Given the description of an element on the screen output the (x, y) to click on. 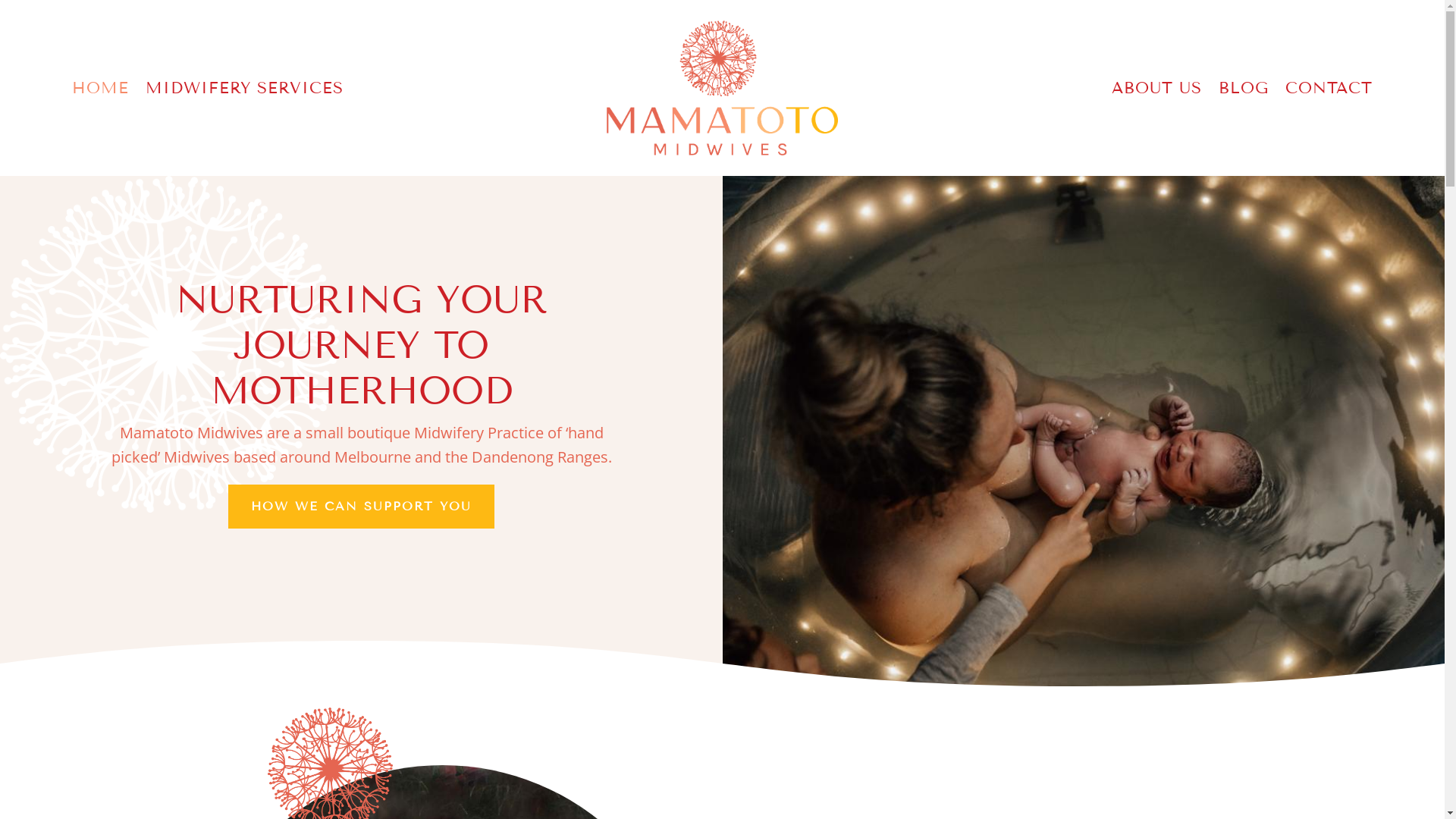
HOW WE CAN SUPPORT YOU Element type: text (361, 505)
MIDWIFERY SERVICES Element type: text (244, 90)
HOME Element type: text (100, 90)
CONTACT Element type: text (1328, 90)
ABOUT US Element type: text (1156, 90)
Mamatoto Midwives Logo Element type: hover (721, 87)
BLOG Element type: text (1243, 90)
